Given the description of an element on the screen output the (x, y) to click on. 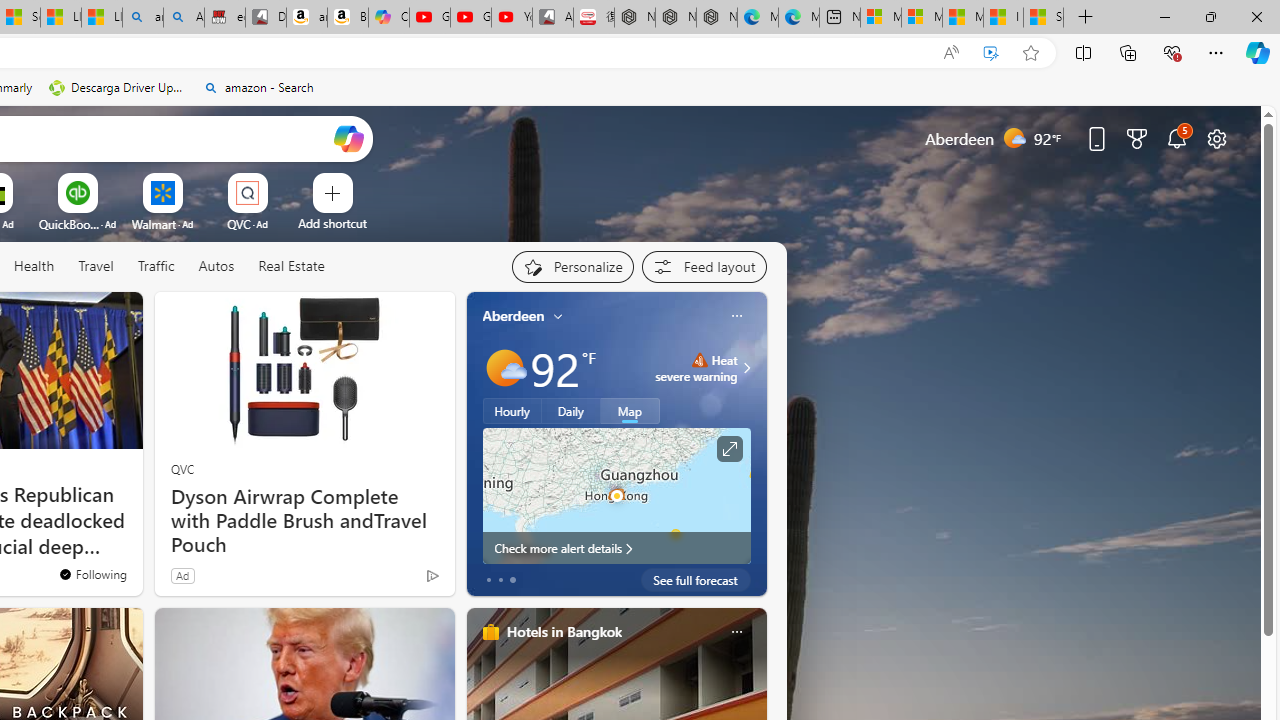
amazon - Search (258, 88)
previous (476, 443)
Ad (182, 575)
Hide this story (82, 315)
Aberdeen (513, 315)
Heat - Severe Heat severe warning (696, 367)
Mostly sunny (504, 368)
I Gained 20 Pounds of Muscle in 30 Days! | Watch (1003, 17)
Ad Choice (432, 575)
Click to see more information (728, 449)
Add a site (332, 223)
Real Estate (291, 265)
